Given the description of an element on the screen output the (x, y) to click on. 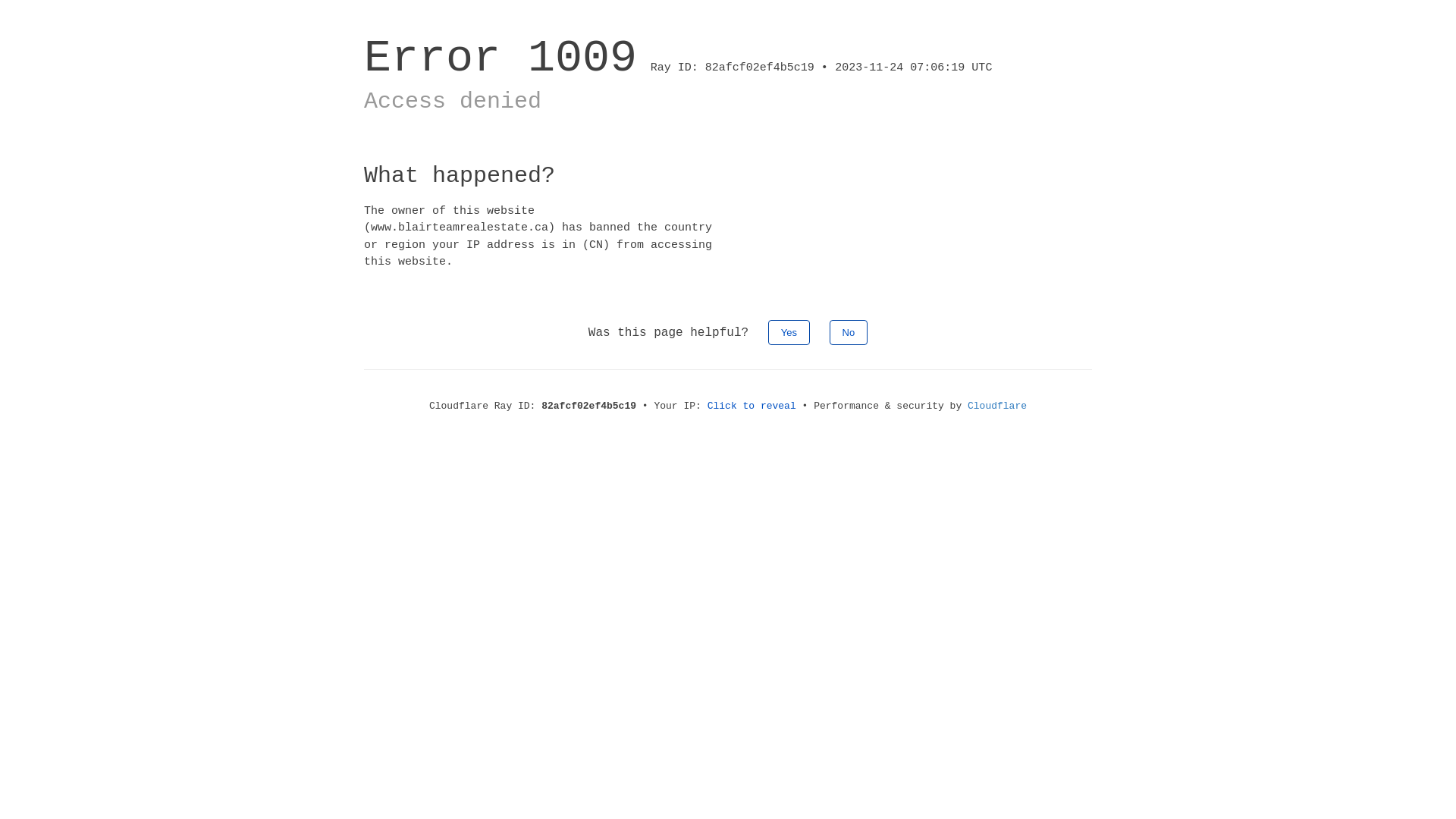
Cloudflare Element type: text (996, 405)
Click to reveal Element type: text (751, 405)
Yes Element type: text (788, 332)
No Element type: text (848, 332)
